Given the description of an element on the screen output the (x, y) to click on. 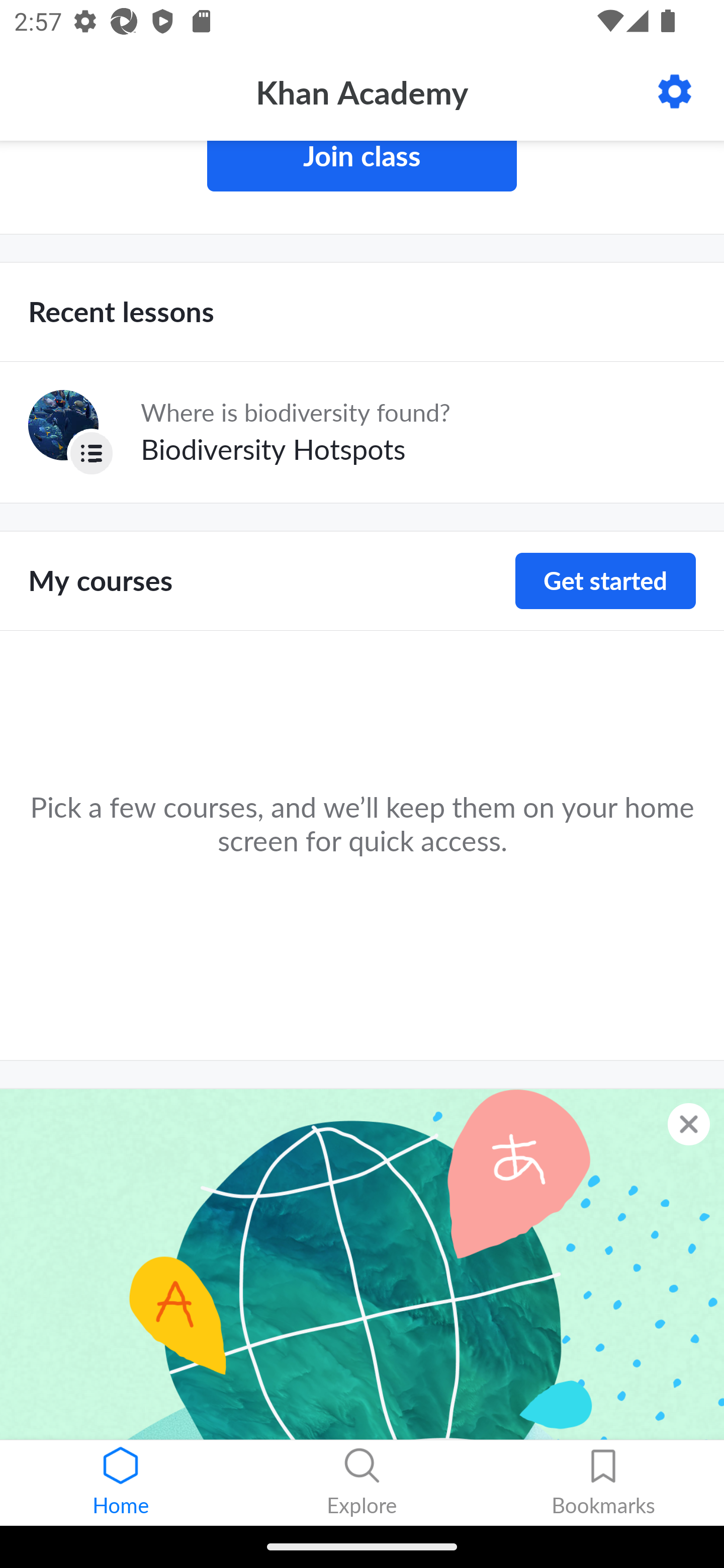
Settings (674, 91)
Join class (361, 166)
Get started (605, 580)
Dismiss (688, 1123)
Home (120, 1482)
Explore (361, 1482)
Bookmarks (603, 1482)
